Given the description of an element on the screen output the (x, y) to click on. 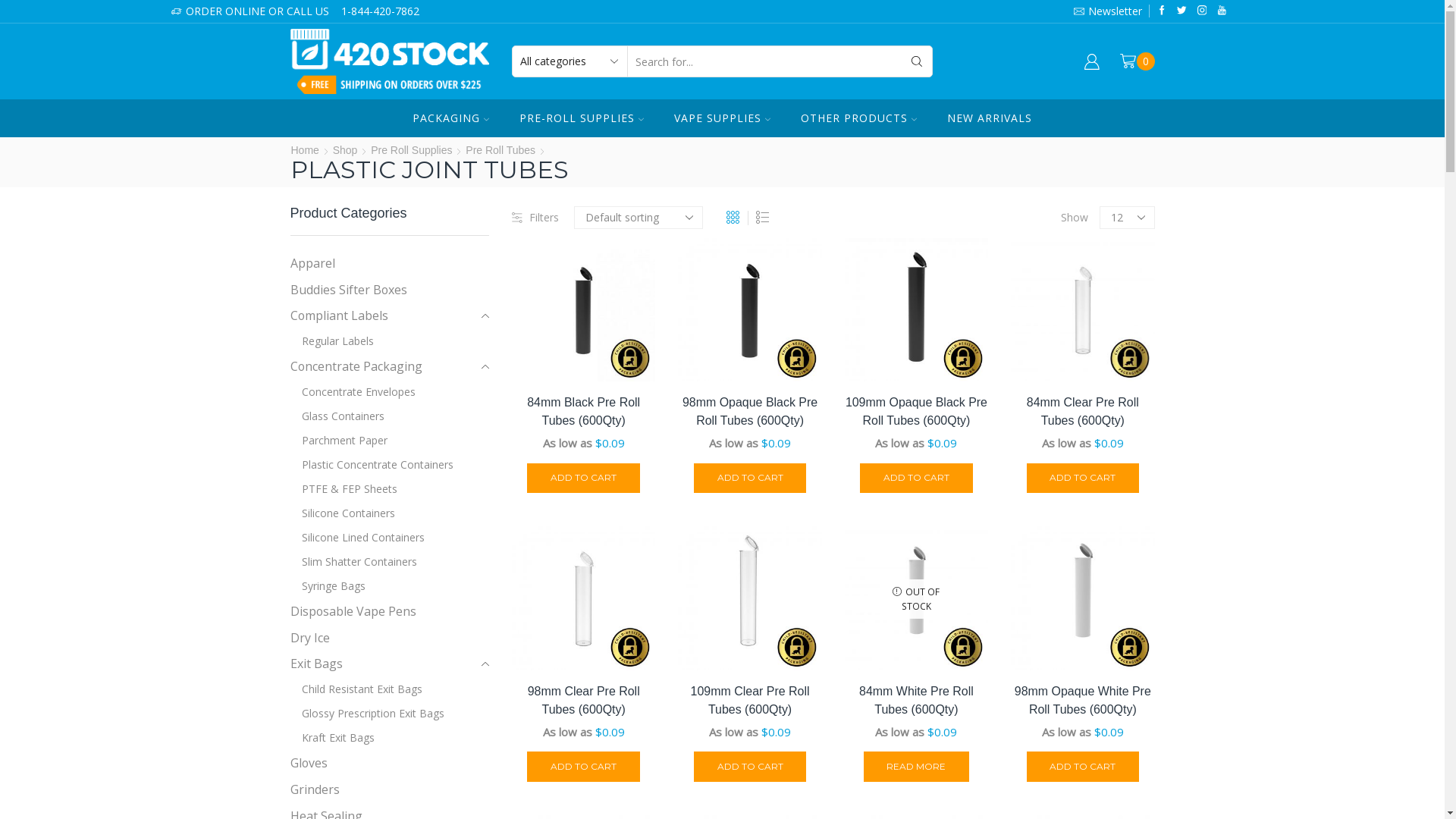
Slim Shatter Containers Element type: text (352, 561)
Glossy Prescription Exit Bags Element type: text (366, 713)
PTFE & FEP Sheets Element type: text (342, 488)
VAPE SUPPLIES Element type: text (721, 118)
84mm Clear Pre Roll Tubes (600Qty) Element type: text (1082, 411)
Gloves Element type: text (307, 762)
0 Element type: text (1137, 61)
Silicone Lined Containers Element type: text (356, 537)
Compliant Labels Element type: text (338, 315)
Concentrate Envelopes Element type: text (351, 391)
PRE-ROLL SUPPLIES Element type: text (581, 118)
84mm White Pre Roll Tubes (600Qty) Element type: text (916, 700)
Pre Roll Supplies Element type: text (411, 149)
Parchment Paper Element type: text (337, 440)
ADD TO CART Element type: text (583, 767)
ADD TO CART Element type: text (749, 479)
Instagram Element type: hover (1202, 10)
READ MORE Element type: text (916, 767)
ADD TO CART Element type: text (583, 479)
Apparel Element type: text (311, 265)
Exit Bags Element type: text (315, 663)
NEW ARRIVALS Element type: text (989, 118)
Regular Labels Element type: text (331, 341)
Child Resistant Exit Bags Element type: text (355, 689)
Facebook Element type: hover (1162, 10)
ADD TO CART Element type: text (1082, 479)
84mm Black Pre Roll Tubes (600Qty) Element type: text (583, 411)
Glass Containers Element type: text (336, 416)
ADD TO CART Element type: text (915, 479)
Plastic Concentrate Containers Element type: text (370, 464)
98mm Opaque Black Pre Roll Tubes (600Qty) Element type: text (749, 411)
109mm Opaque Black Pre Roll Tubes (600Qty) Element type: text (916, 411)
Grinders Element type: text (313, 789)
Shop Element type: text (345, 149)
Kraft Exit Bags Element type: text (331, 737)
98mm Clear Pre Roll Tubes (600Qty) Element type: text (583, 700)
Dry Ice Element type: text (309, 637)
Home Element type: text (304, 149)
Disposable Vape Pens Element type: text (352, 611)
Buddies Sifter Boxes Element type: text (347, 289)
ADD TO CART Element type: text (749, 767)
Linkedin Element type: hover (1221, 10)
109mm Clear Pre Roll Tubes (600Qty) Element type: text (749, 700)
Silicone Containers Element type: text (341, 513)
ADD TO CART Element type: text (1082, 767)
Concentrate Packaging Element type: text (355, 366)
PACKAGING Element type: text (450, 118)
Pre Roll Tubes Element type: text (500, 149)
Syringe Bags Element type: text (326, 586)
98mm Opaque White Pre Roll Tubes (600Qty) Element type: text (1082, 700)
OTHER PRODUCTS Element type: text (858, 118)
Twitter Element type: hover (1181, 10)
Log in Element type: text (984, 271)
Filters Element type: text (534, 217)
